Given the description of an element on the screen output the (x, y) to click on. 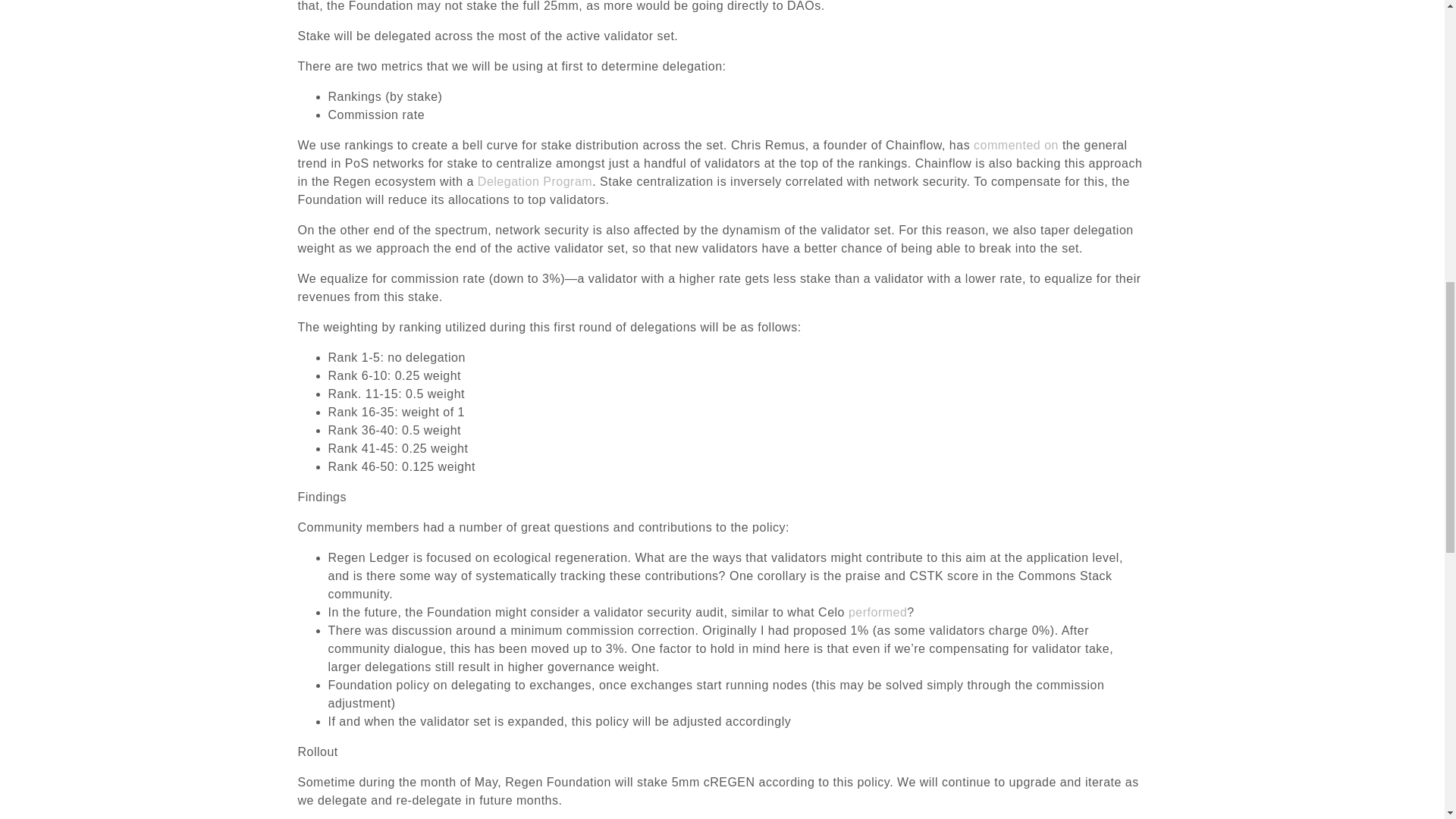
commented on (1016, 144)
Delegation Program (534, 181)
performed (877, 612)
